Given the description of an element on the screen output the (x, y) to click on. 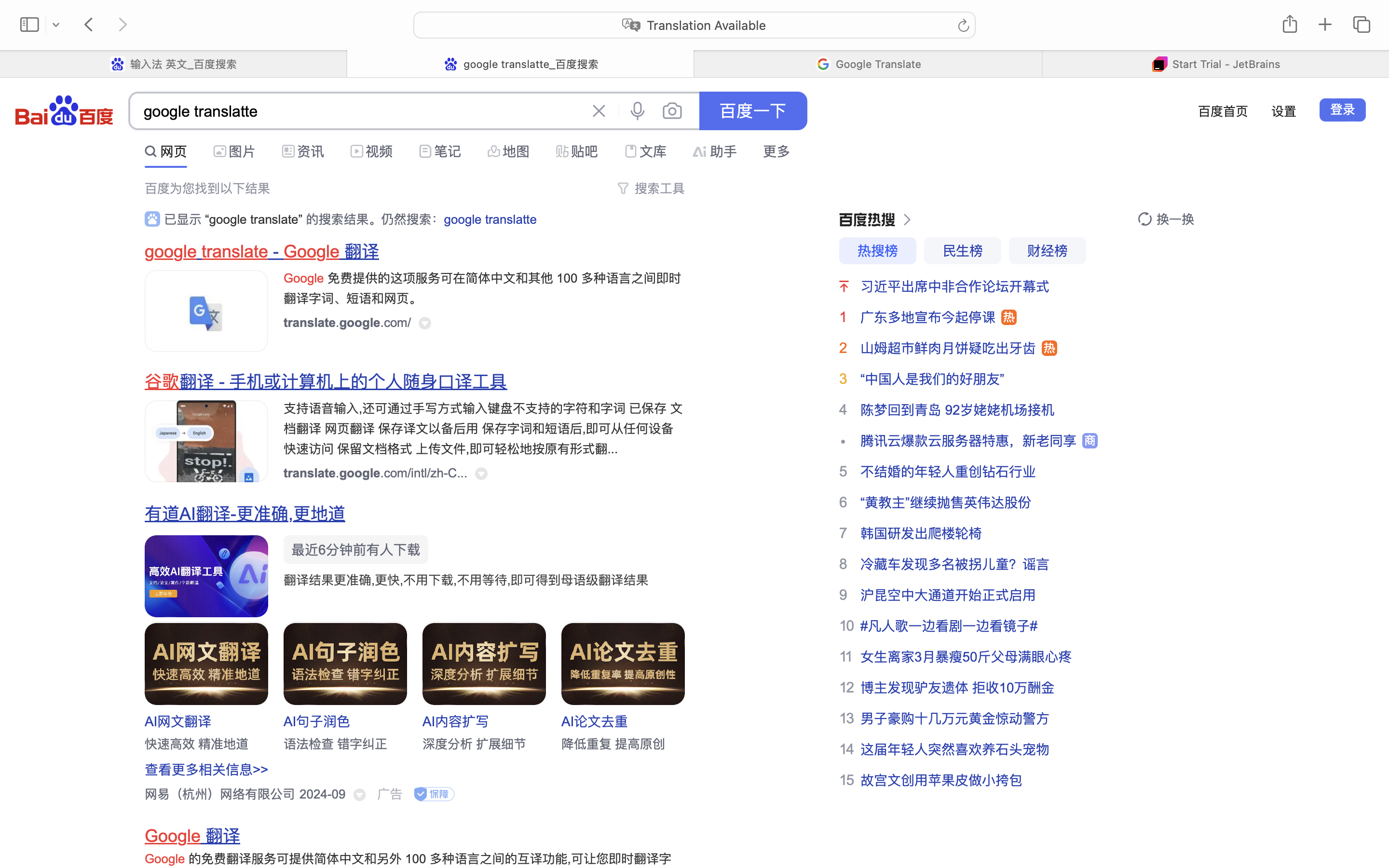
商 Element type: AXStaticText (1089, 440)
网页 Element type: AXStaticText (173, 151)
谷歌 Element type: AXStaticText (161, 381)
 Element type: AXStaticText (359, 794)
视频 Element type: AXStaticText (378, 151)
